Given the description of an element on the screen output the (x, y) to click on. 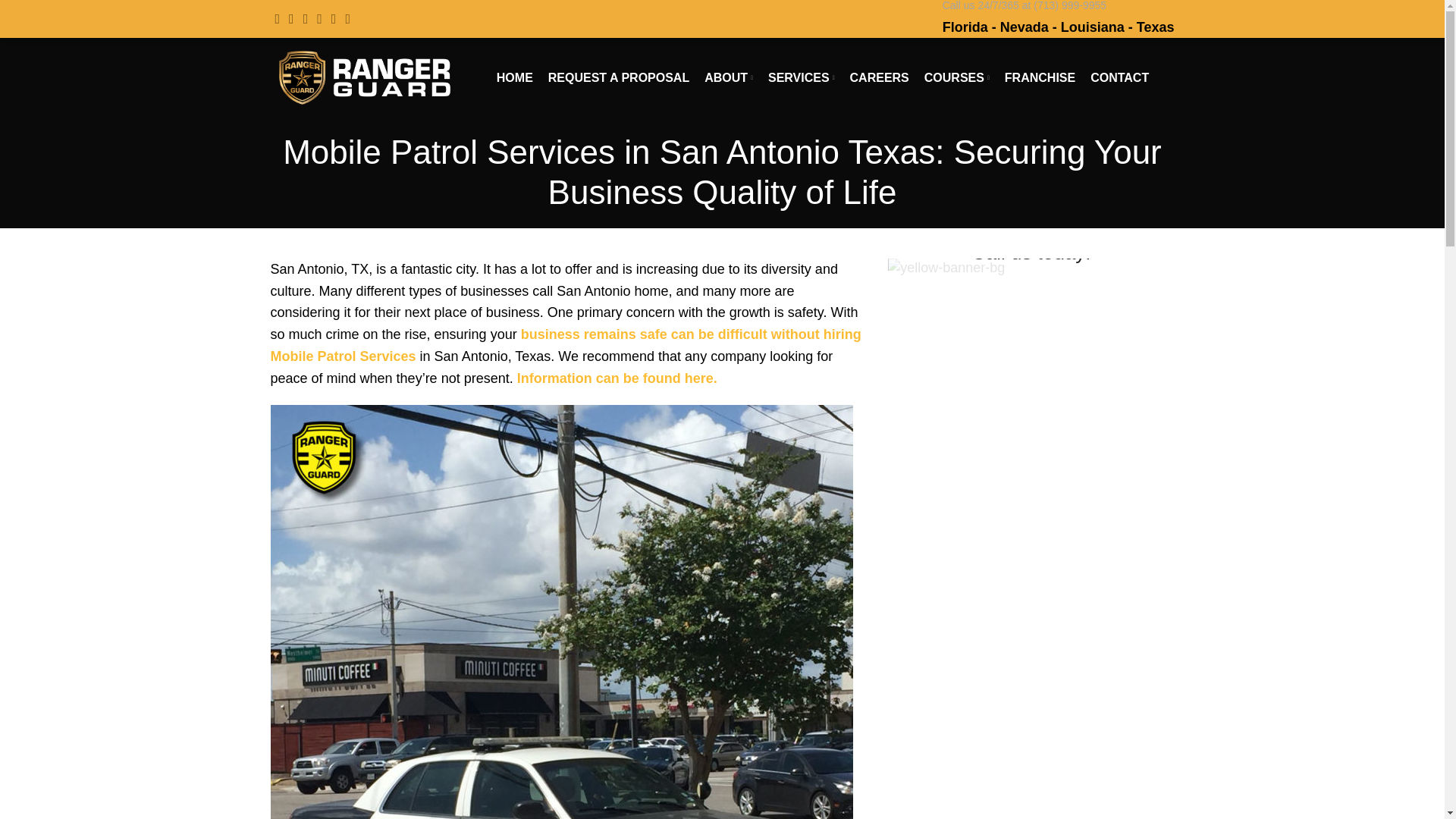
SERVICES (801, 77)
ABOUT (728, 77)
CONTACT (1119, 77)
REQUEST A PROPOSAL (618, 77)
Louisiana (1092, 27)
Nevada (1024, 27)
HOME (514, 77)
CAREERS (879, 77)
Florida (965, 27)
COURSES (957, 77)
